Given the description of an element on the screen output the (x, y) to click on. 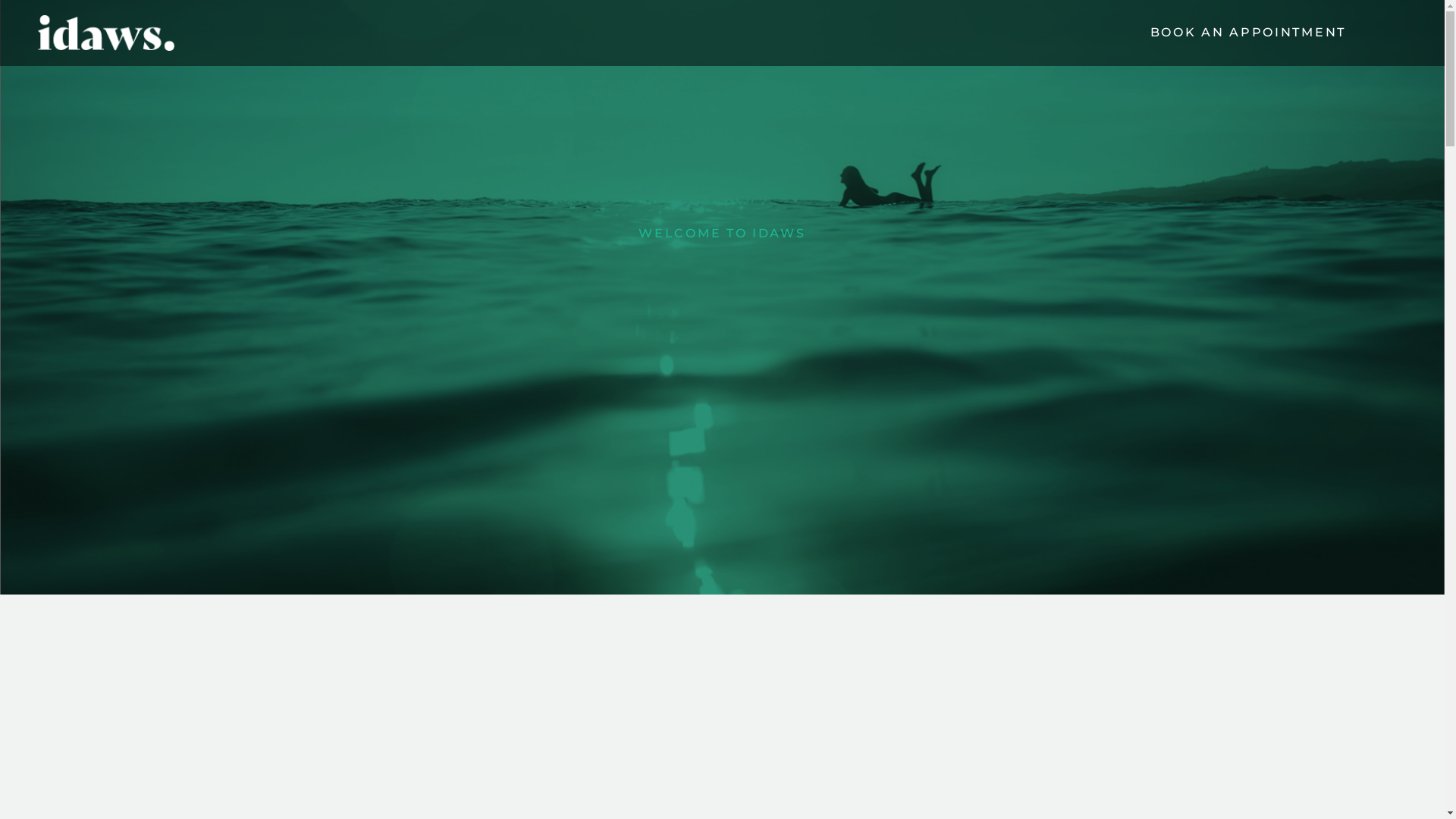
BOOK AN APPOINTMENT Element type: text (1248, 32)
